Given the description of an element on the screen output the (x, y) to click on. 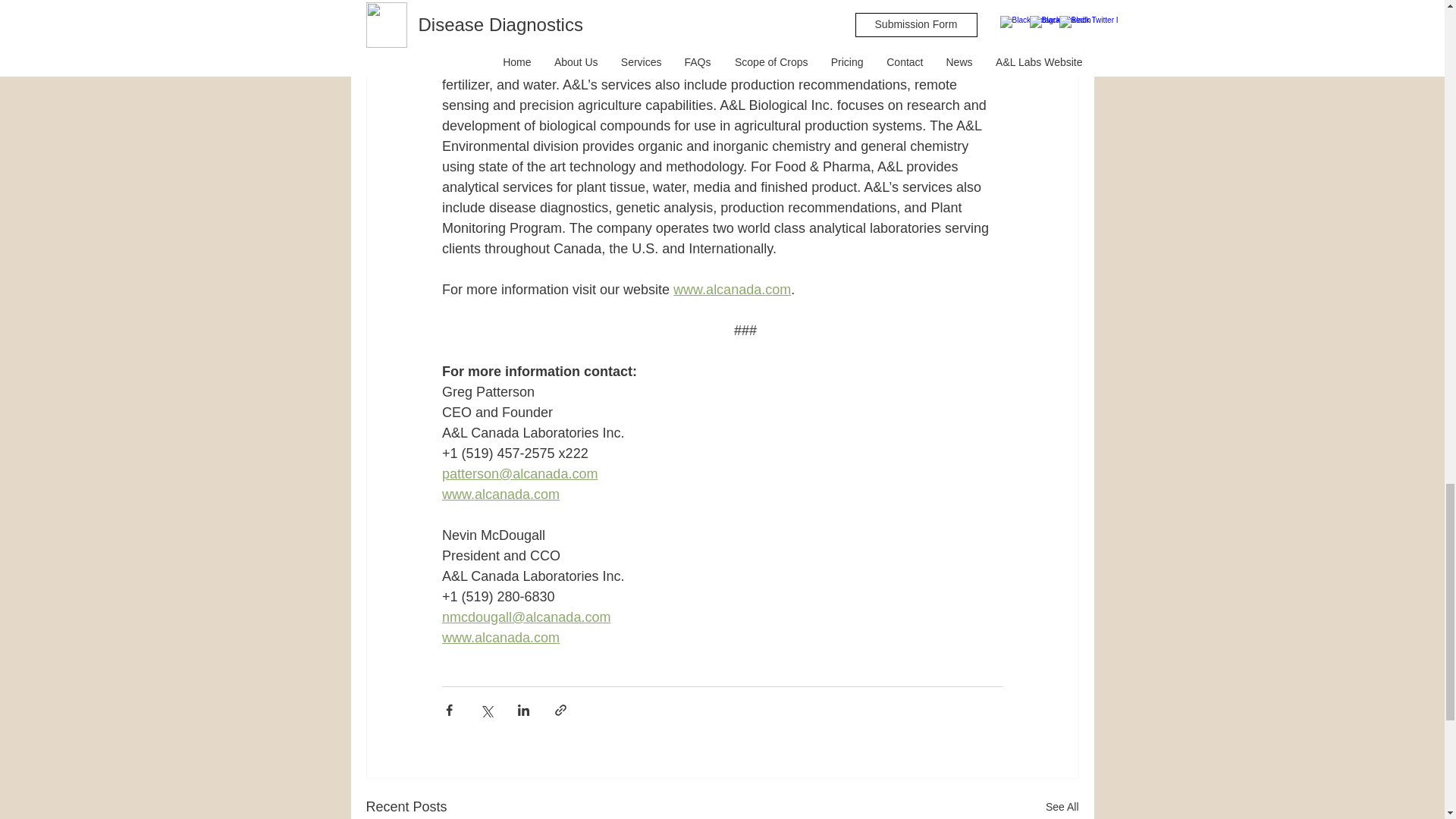
www.alcanada.com (500, 637)
www.alcanada.com (731, 289)
www.alcanada.com (500, 494)
